Given the description of an element on the screen output the (x, y) to click on. 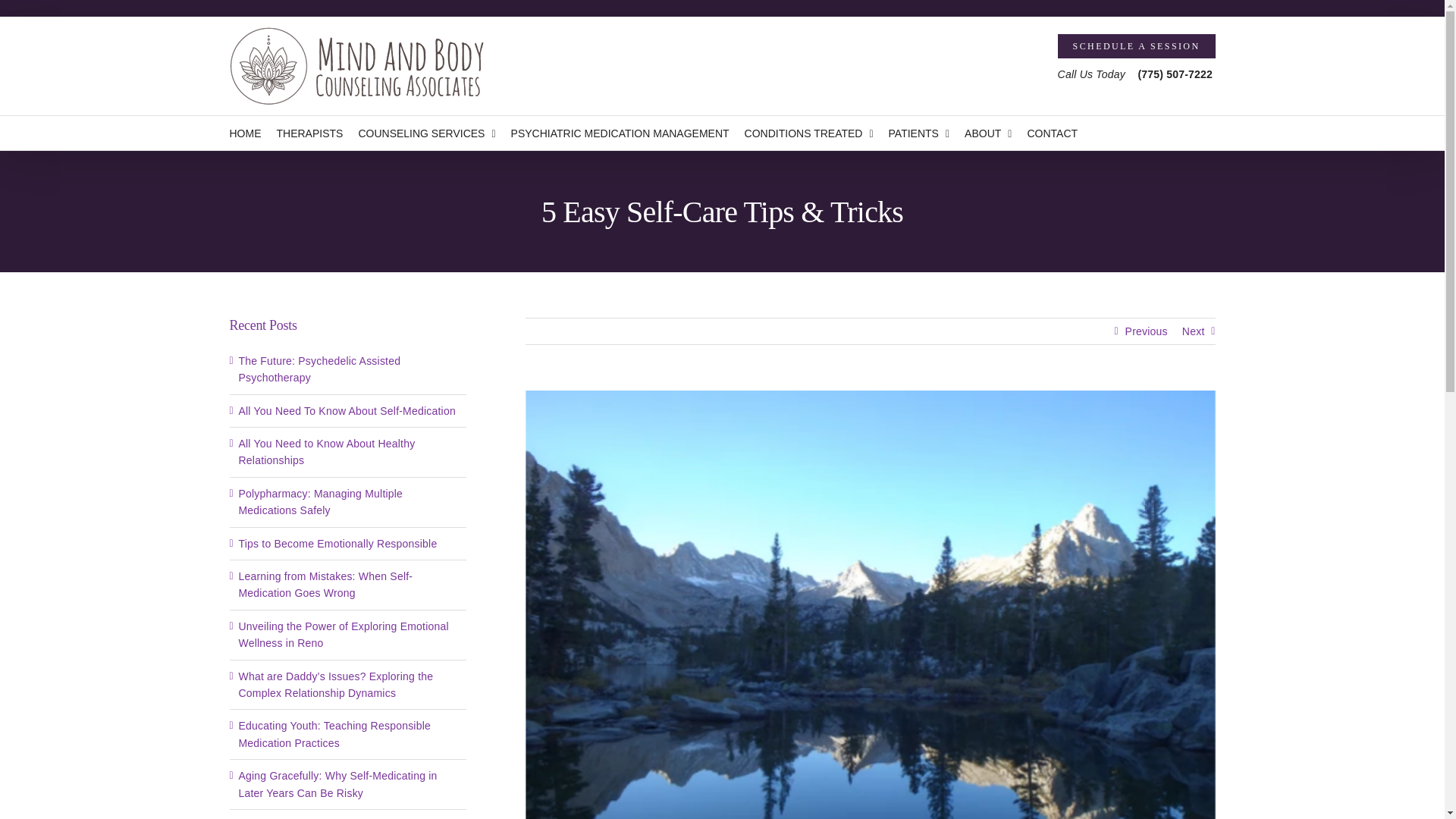
THERAPISTS (309, 132)
HOME (244, 132)
COUNSELING SERVICES (426, 132)
ABOUT (987, 132)
SCHEDULE A SESSION (1136, 46)
PATIENTS (919, 132)
CONTACT (1051, 132)
CONDITIONS TREATED (808, 132)
PSYCHIATRIC MEDICATION MANAGEMENT (620, 132)
